Given the description of an element on the screen output the (x, y) to click on. 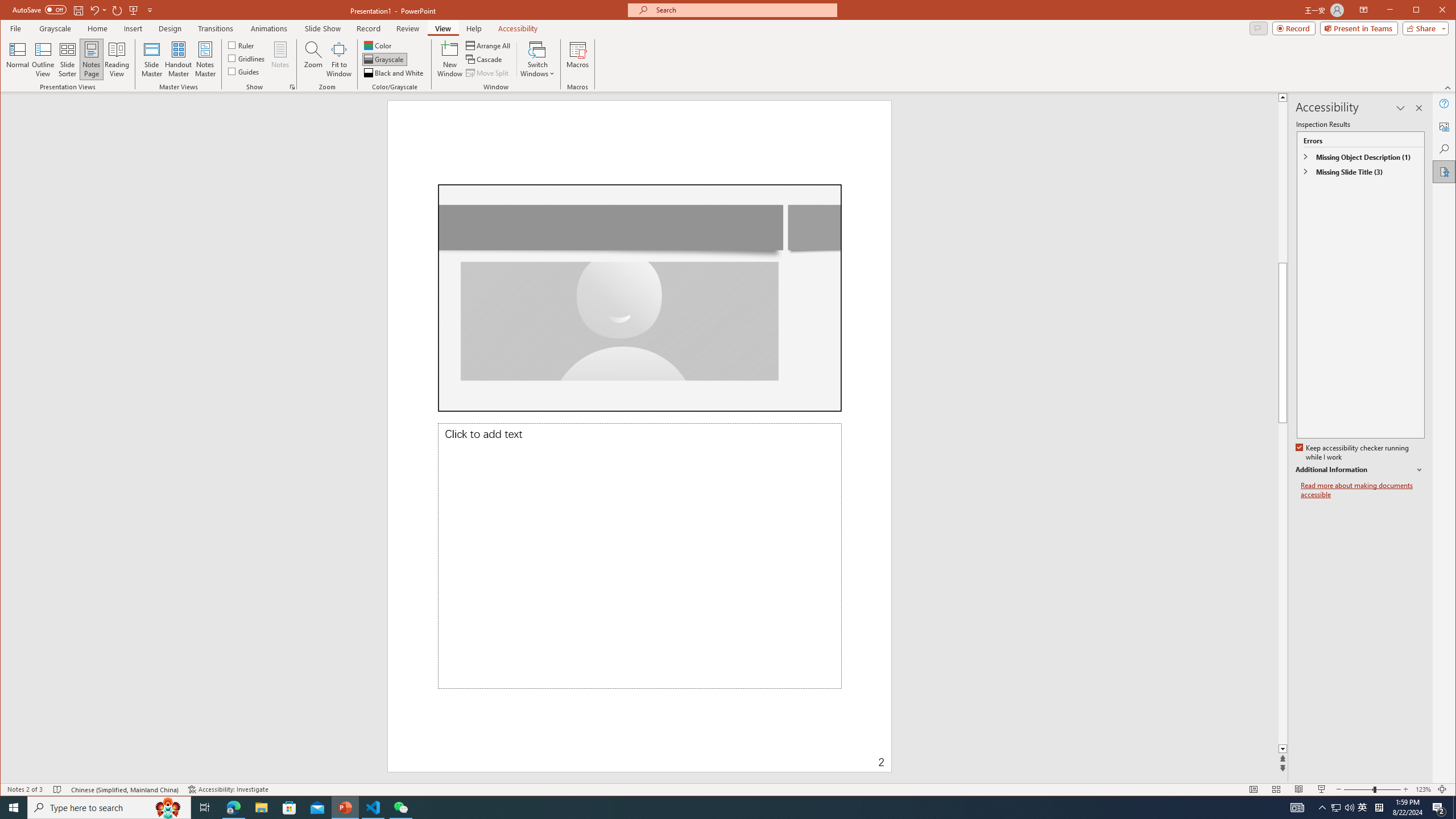
Running applications (707, 807)
Grayscale (1362, 807)
Maximize (384, 59)
Notes Master (1432, 11)
PowerPoint - 1 running window (204, 59)
Gridlines (345, 807)
